Given the description of an element on the screen output the (x, y) to click on. 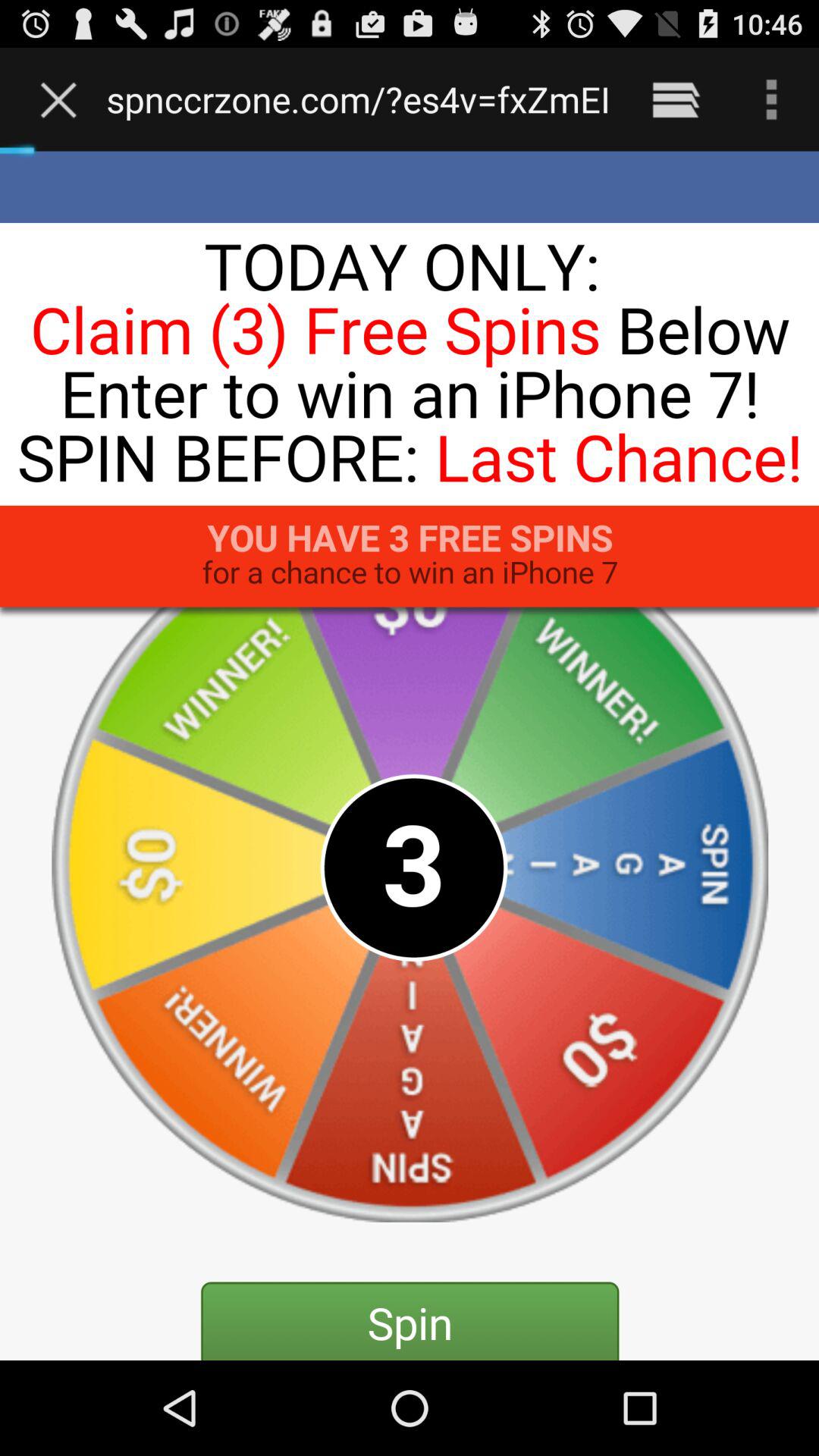
click item next to www electronicproductzone com item (675, 99)
